Given the description of an element on the screen output the (x, y) to click on. 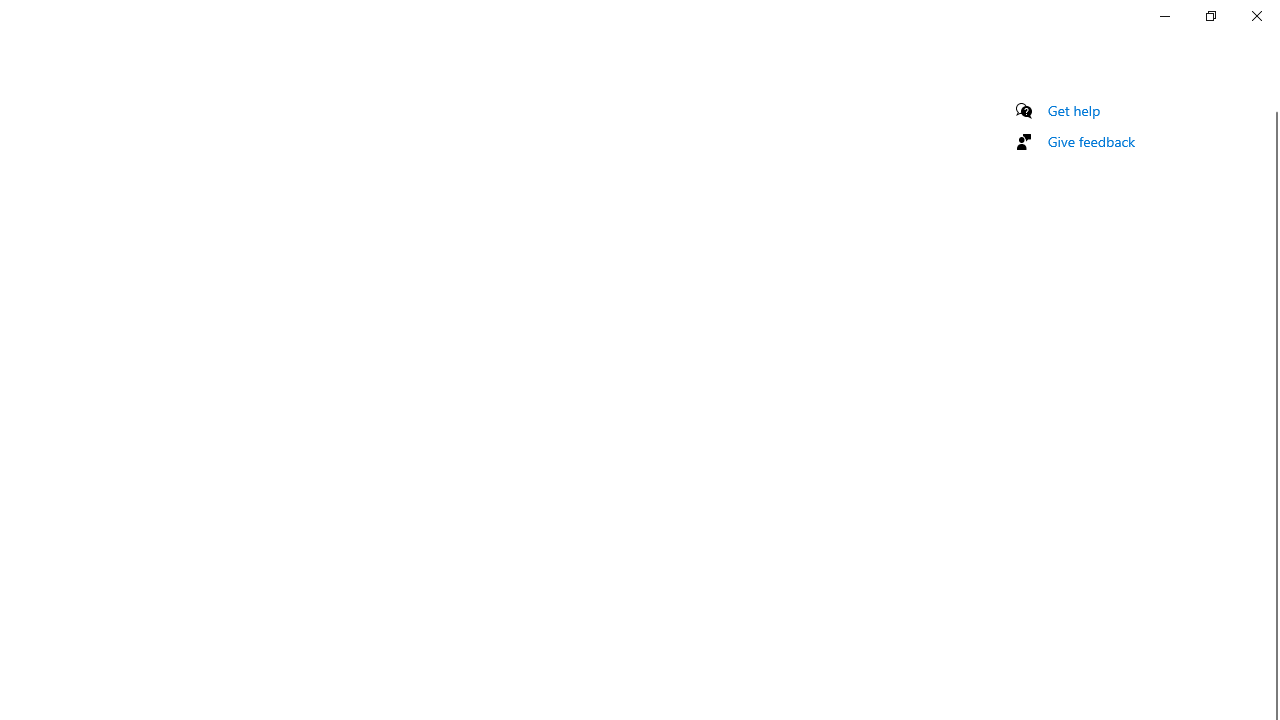
Close Settings (1256, 15)
Restore Settings (1210, 15)
Minimize Settings (1164, 15)
Vertical Small Decrease (1272, 103)
Give feedback (1091, 141)
Get help (1074, 110)
